Given the description of an element on the screen output the (x, y) to click on. 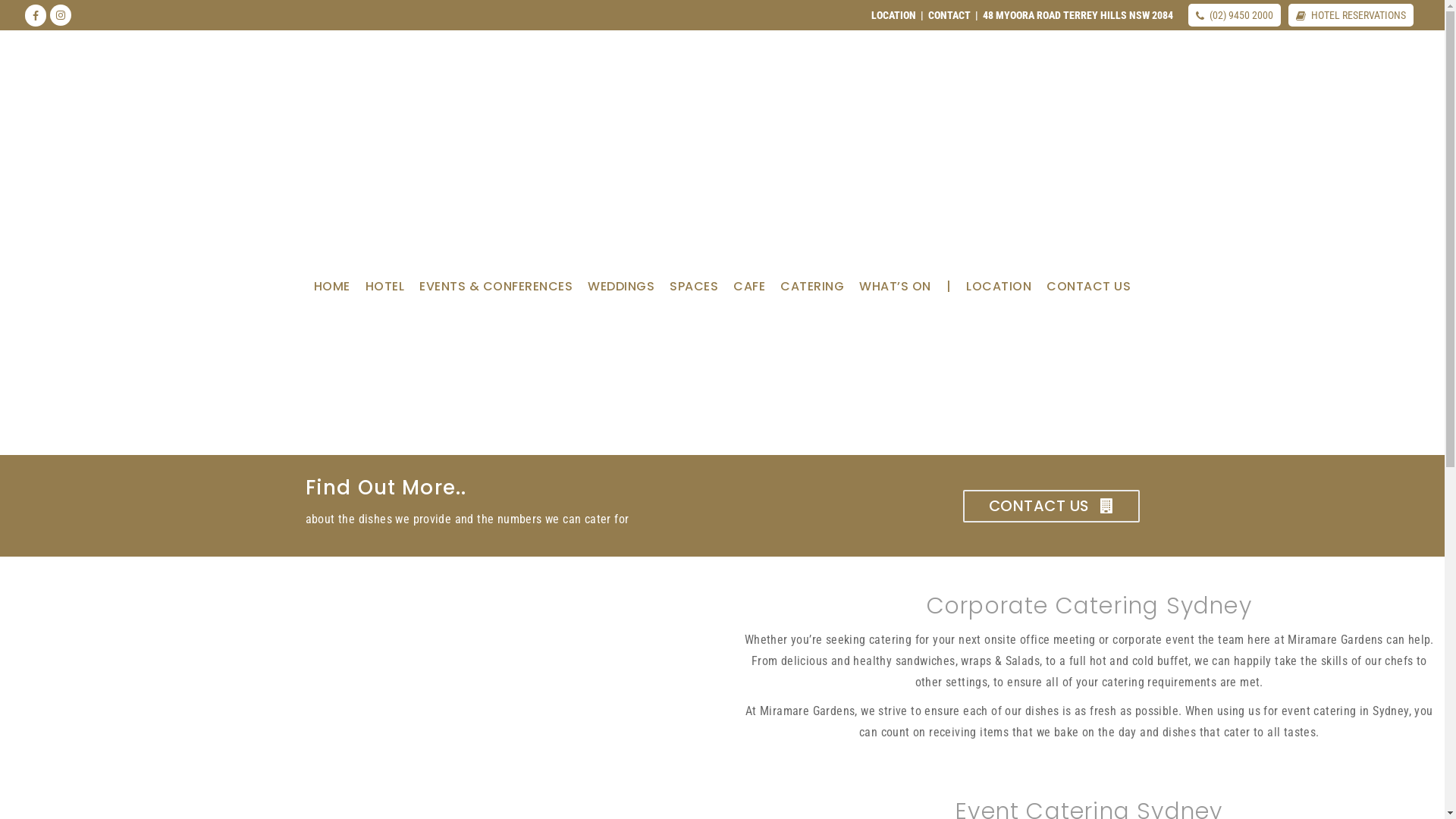
CAFE Element type: text (748, 291)
HOME Element type: text (331, 291)
SPACES Element type: text (693, 291)
EVENTS & CONFERENCES Element type: text (495, 291)
48 MYOORA ROAD TERREY HILLS NSW 2084 Element type: text (1077, 15)
HOTEL Element type: text (384, 291)
CONTACT US Element type: text (1051, 505)
(02) 9450 2000 Element type: text (1238, 15)
LOCATION Element type: text (893, 15)
CONTACT US Element type: text (1088, 291)
| Element type: text (948, 291)
HOTEL RESERVATIONS Element type: text (1355, 15)
LOCATION Element type: text (998, 291)
WEDDINGS Element type: text (621, 291)
CATERING Element type: text (811, 291)
CONTACT Element type: text (949, 15)
